Given the description of an element on the screen output the (x, y) to click on. 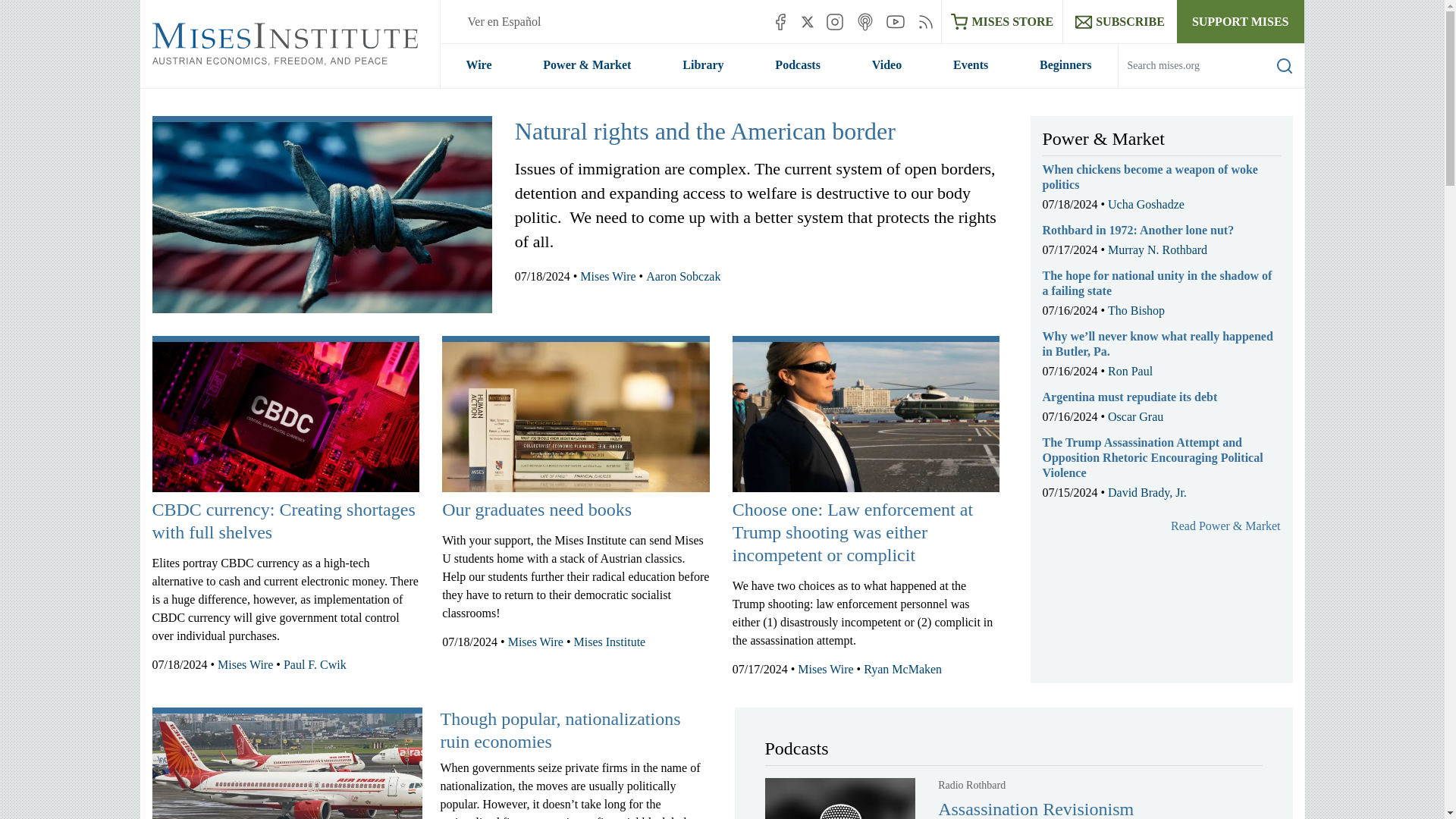
Library (702, 65)
Podcasts (797, 65)
Events (970, 65)
Beginners (1064, 65)
SUBSCRIBE (1119, 21)
SUPPORT MISES (1240, 21)
Mises RSS feed (925, 21)
Submit (1272, 87)
MISES STORE (1002, 21)
Mises X (807, 21)
Video (886, 65)
Mises Facebook (780, 21)
Search (1284, 65)
Wire (477, 65)
